Given the description of an element on the screen output the (x, y) to click on. 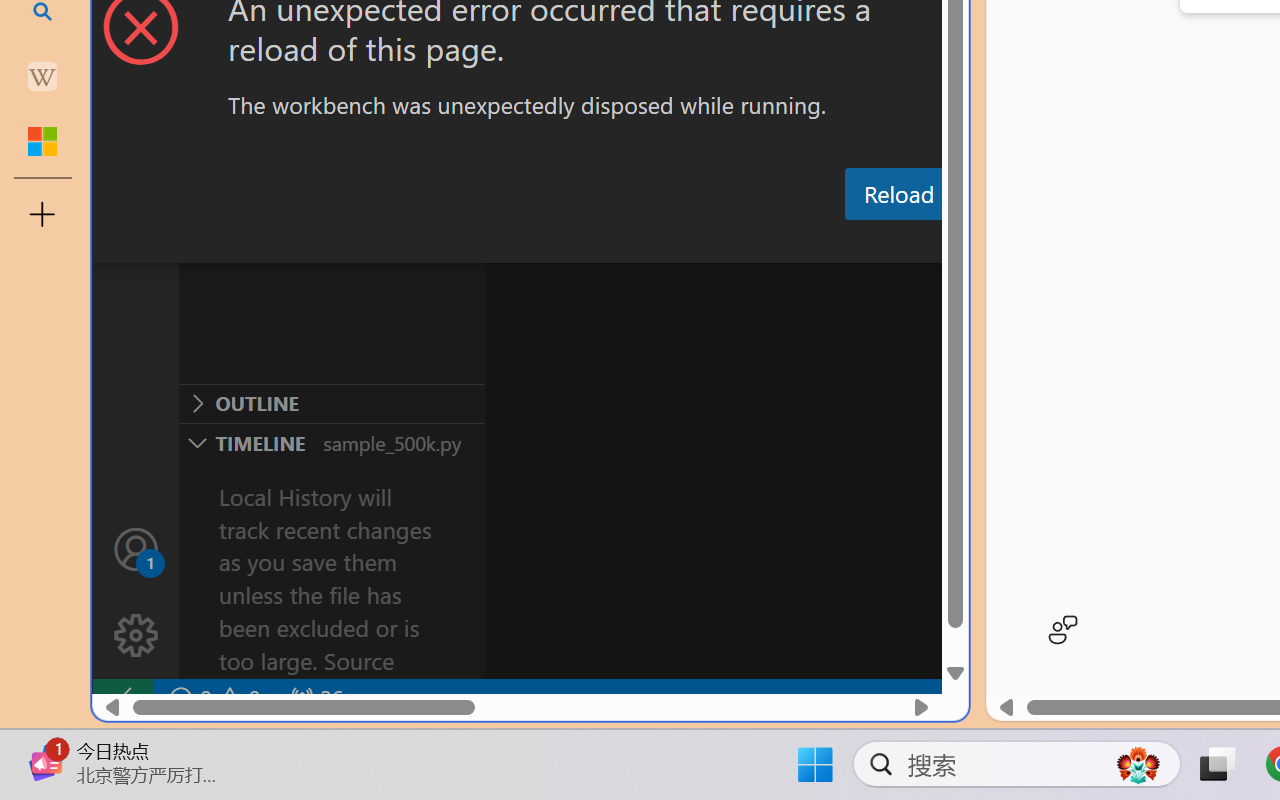
Reload (898, 193)
remote (122, 698)
Debug Console (Ctrl+Shift+Y) (854, 243)
Terminal (Ctrl+`) (1021, 243)
Problems (Ctrl+Shift+M) (567, 243)
Accounts - Sign in requested (135, 548)
